Given the description of an element on the screen output the (x, y) to click on. 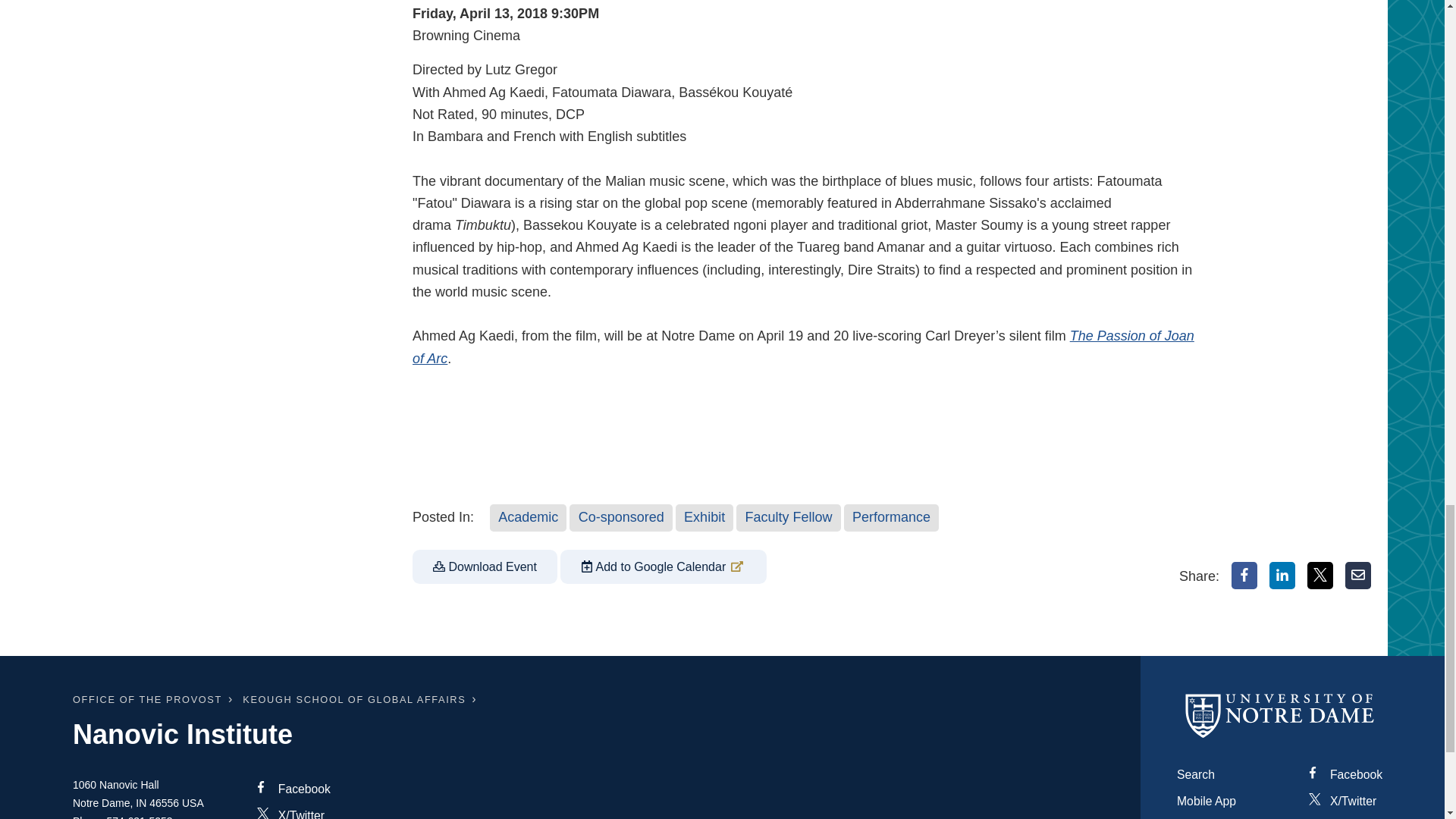
Facebook (1244, 574)
LinkedIn (1282, 574)
Email (1358, 574)
